Given the description of an element on the screen output the (x, y) to click on. 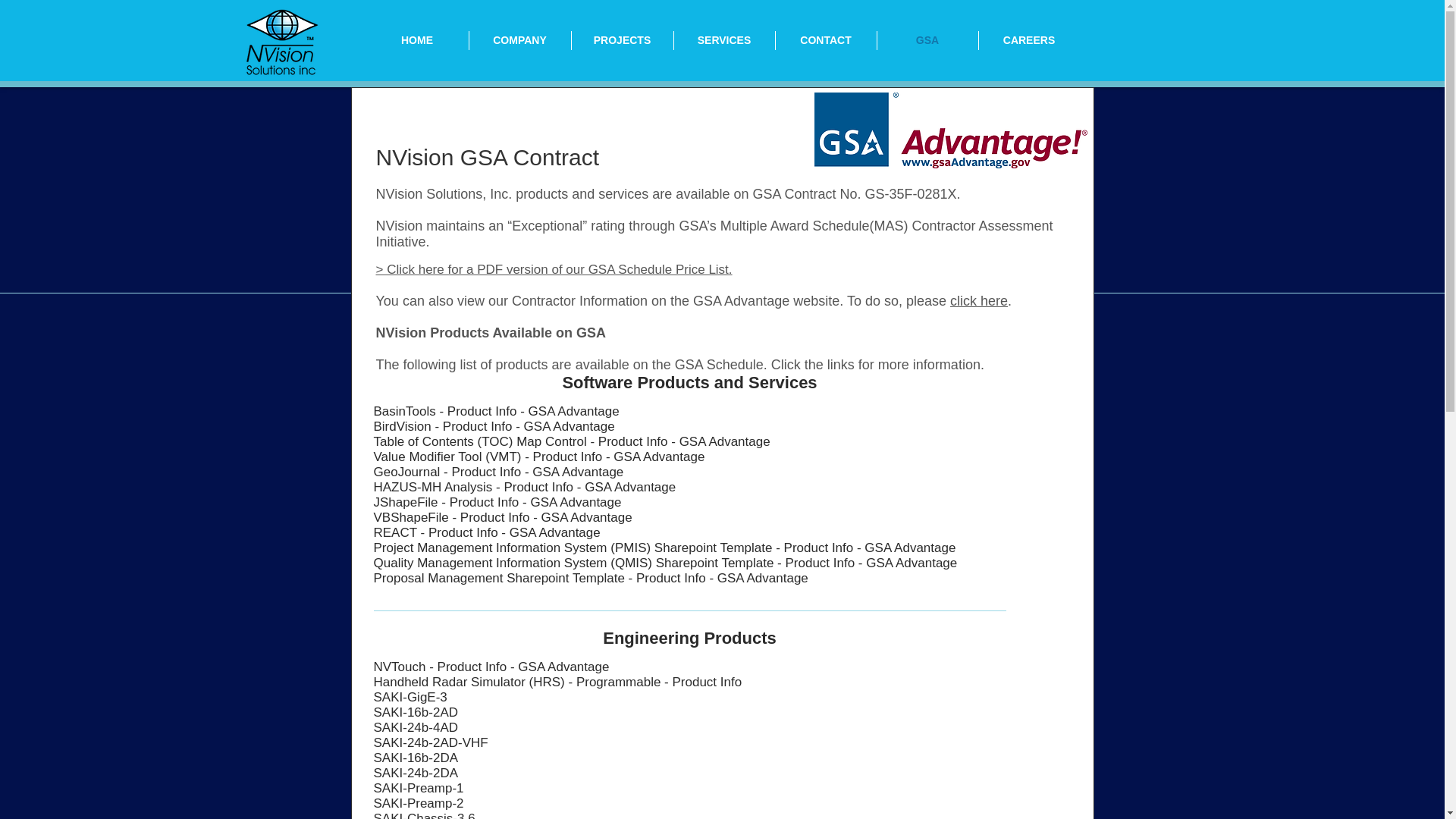
PROJECTS (622, 40)
click here (978, 300)
HOME (416, 40)
GSA (926, 40)
CAREERS (1028, 40)
COMPANY (519, 40)
SERVICES (723, 40)
CONTACT (825, 40)
